Given the description of an element on the screen output the (x, y) to click on. 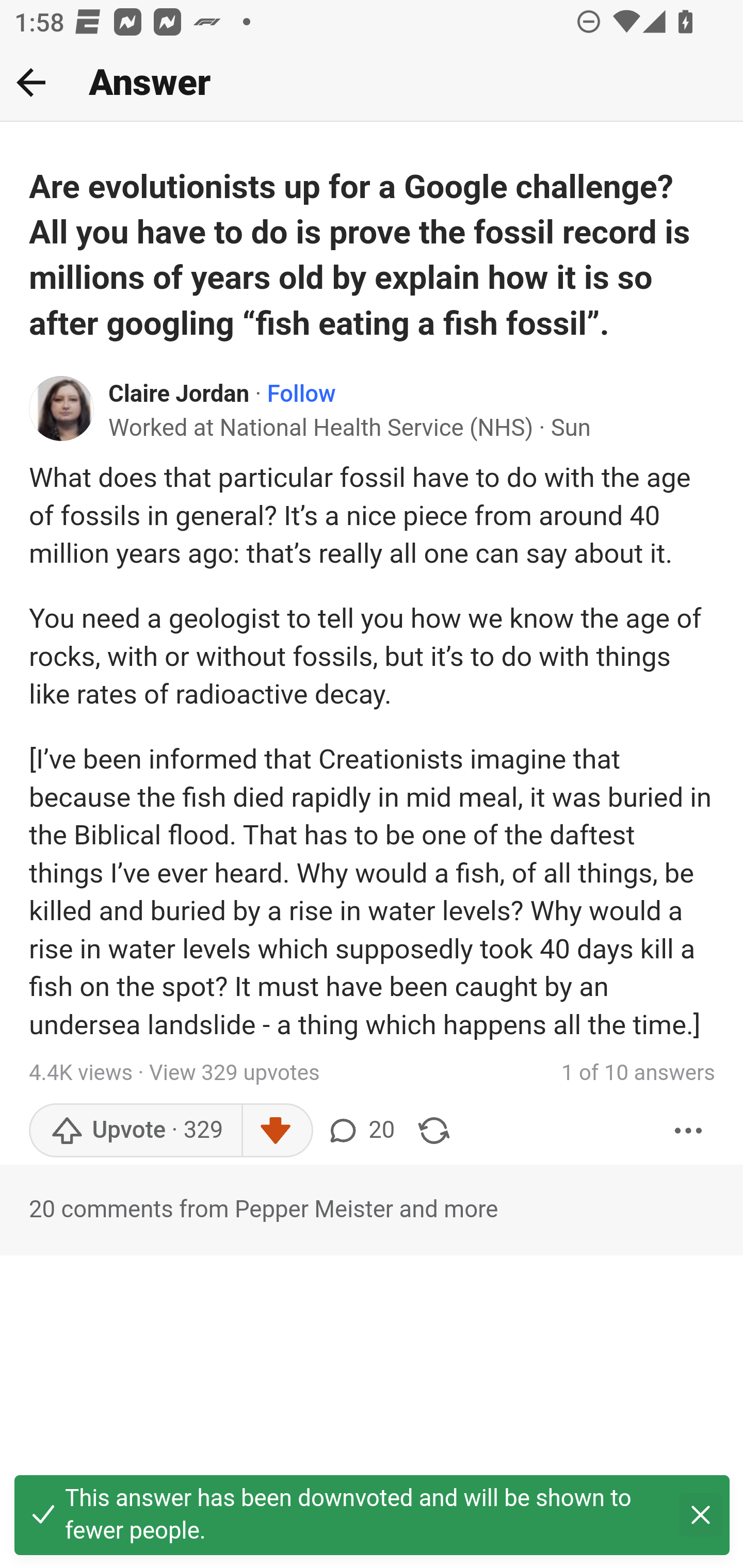
Back (30, 82)
Profile photo for Claire Jordan (61, 407)
Claire Jordan (179, 394)
Follow (301, 394)
Sun (570, 428)
View 329 upvotes (234, 1072)
1 of 10 answers (637, 1072)
Upvote (135, 1129)
Downvote (277, 1129)
20 comments (360, 1129)
Share (434, 1129)
More (688, 1129)
20 comments from Pepper Meister and more (371, 1209)
